Given the description of an element on the screen output the (x, y) to click on. 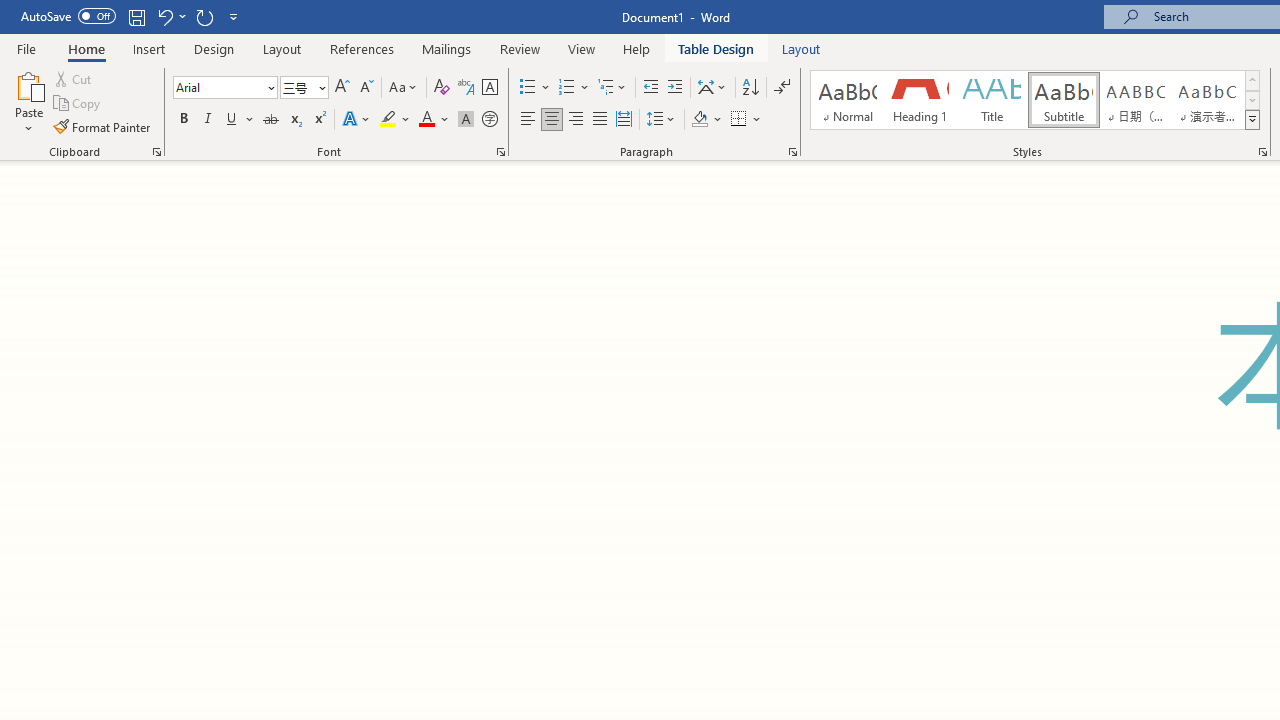
Row Down (1252, 100)
Decrease Indent (650, 87)
Align Right (575, 119)
Font... (500, 151)
Copy (78, 103)
Styles... (1262, 151)
